Given the description of an element on the screen output the (x, y) to click on. 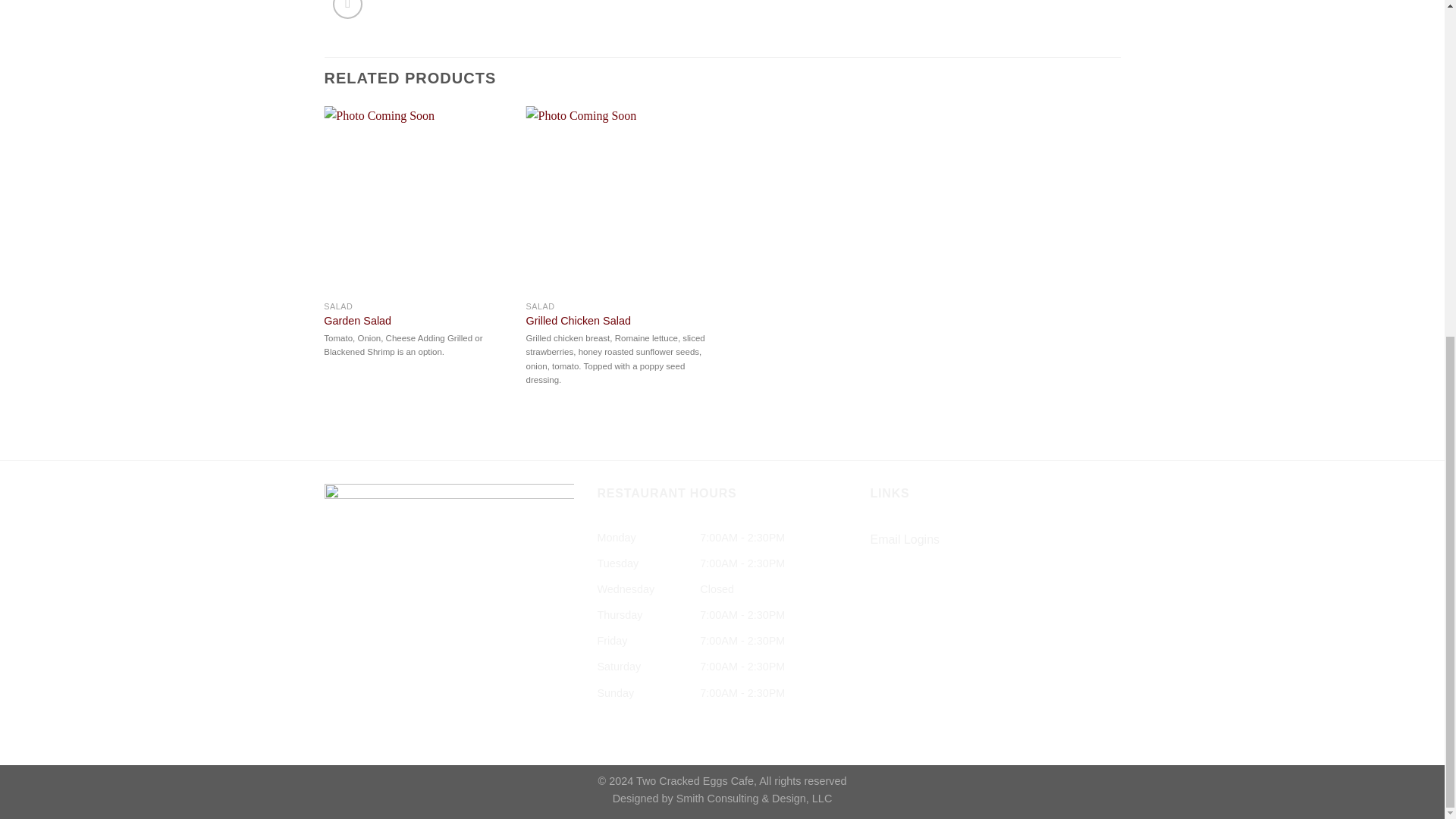
Garden Salad (357, 320)
Zoom (347, 9)
Email Logins (904, 539)
Grilled Chicken Salad (577, 320)
